Given the description of an element on the screen output the (x, y) to click on. 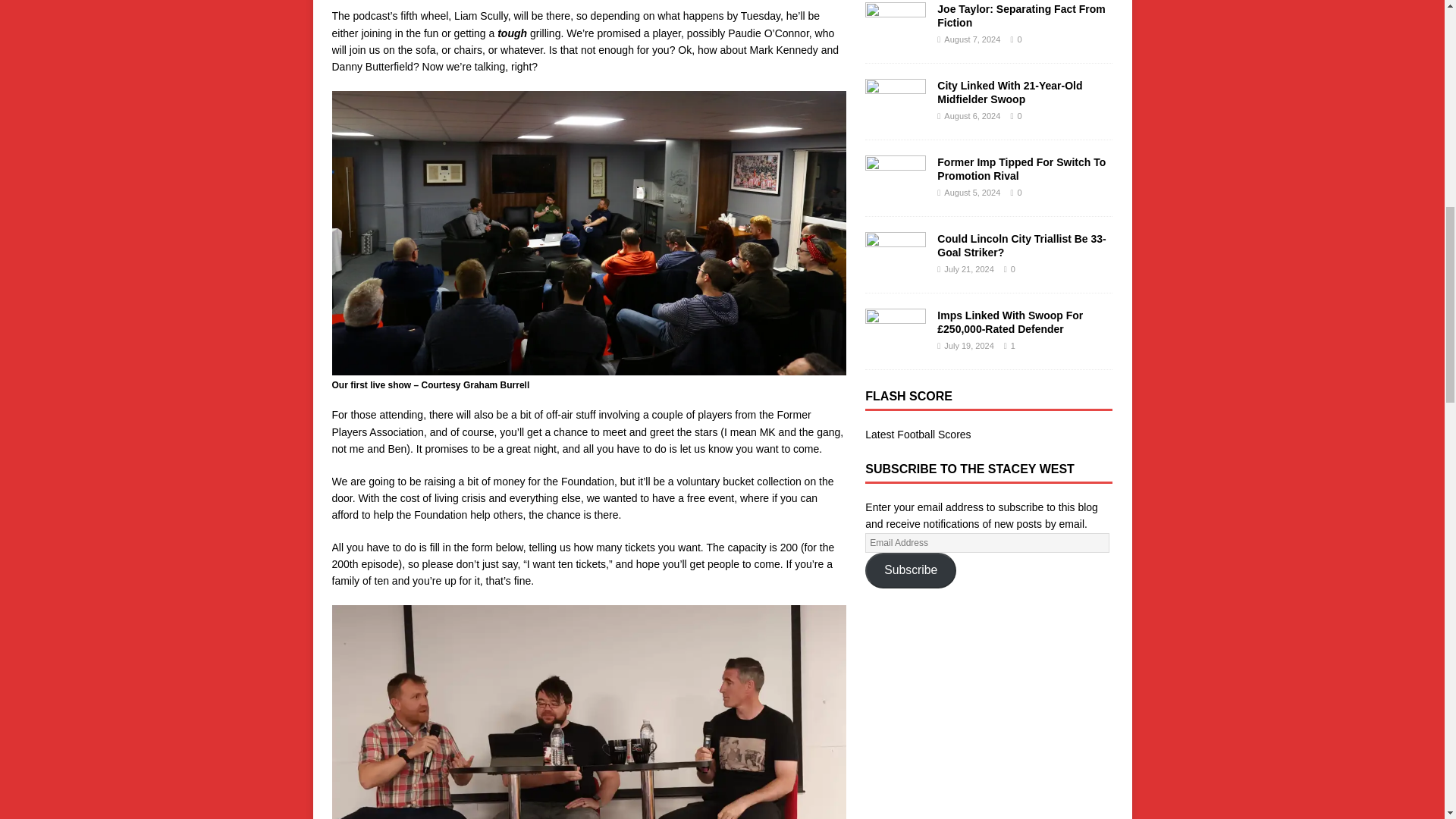
City Linked With 21-Year-Old Midfielder Swoop (1009, 92)
City Linked With 21-Year-Old Midfielder Swoop (895, 115)
Joe Taylor: Separating Fact From Fiction (1021, 15)
Former Imp Tipped For Switch To Promotion Rival (895, 192)
Joe Taylor: Separating Fact From Fiction (895, 39)
